Given the description of an element on the screen output the (x, y) to click on. 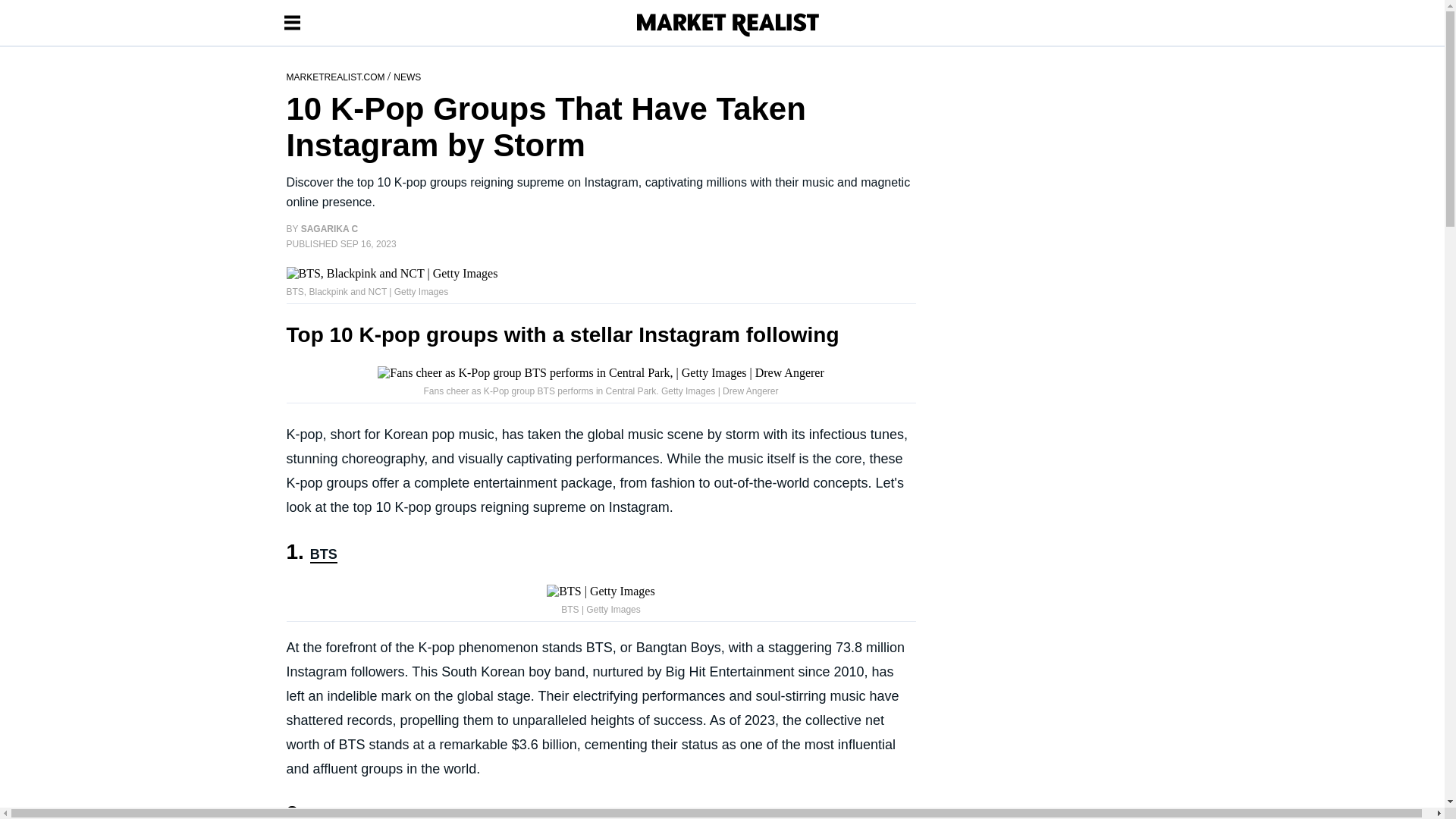
NEWS (406, 75)
MARKETREALIST.COM (336, 75)
BTS (323, 555)
Blackpink (342, 813)
SAGARIKA C (329, 228)
